Given the description of an element on the screen output the (x, y) to click on. 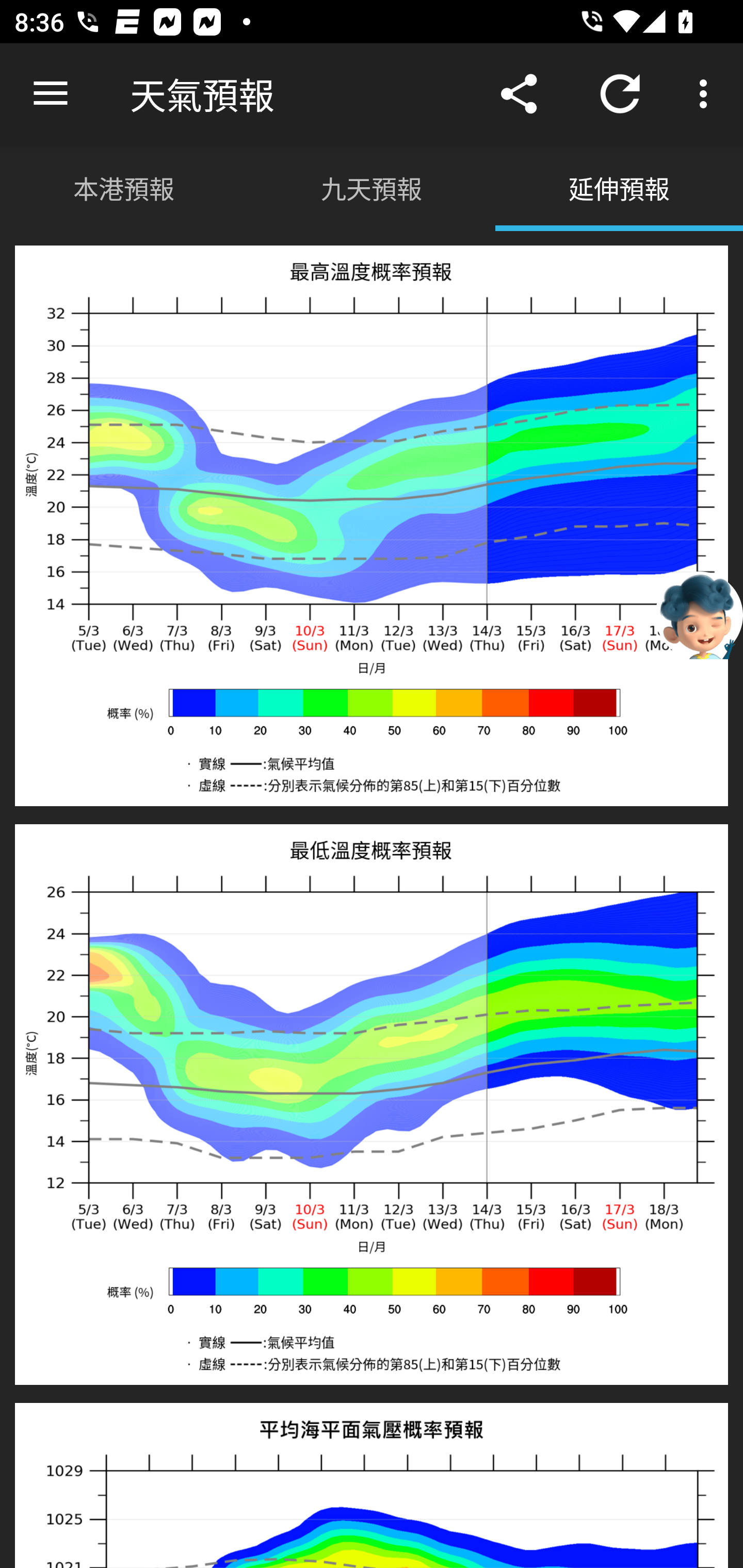
向上瀏覽 (50, 93)
分享 (518, 93)
重新整理 (619, 93)
更多選項 (706, 93)
本港預報 (123, 187)
九天預報 (371, 187)
聊天機械人 (699, 614)
